Given the description of an element on the screen output the (x, y) to click on. 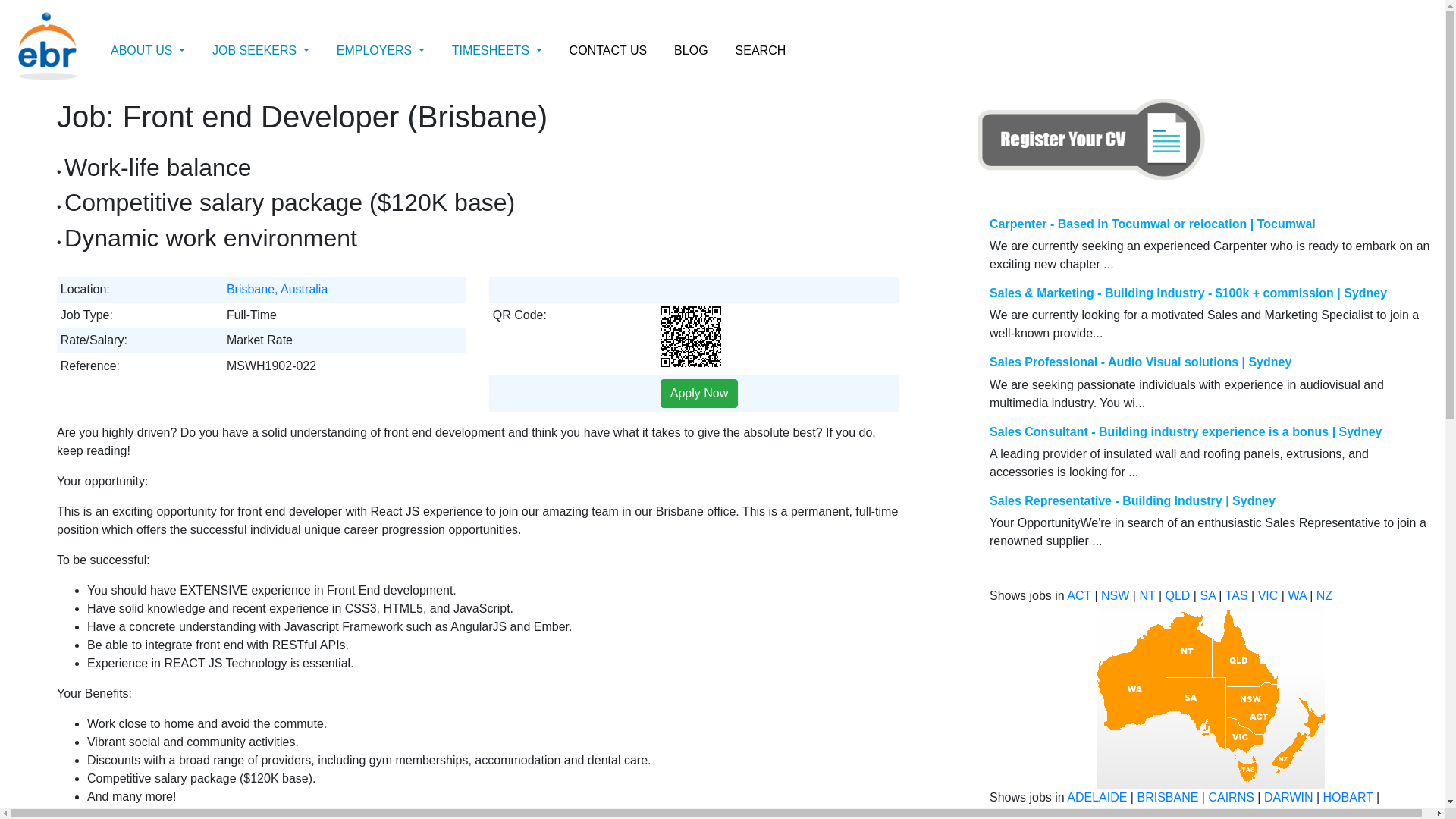
TIMESHEETS Element type: text (496, 50)
ABOUT US Element type: text (147, 50)
NZ Element type: text (1324, 595)
CAIRNS Element type: text (1230, 796)
ACT Element type: text (1078, 595)
NT Element type: text (1146, 595)
EBR Jobs Australia and New Zealand Element type: hover (1210, 696)
SA Element type: text (1206, 595)
TAS Element type: text (1236, 595)
Sales Professional - Audio Visual solutions | Sydney Element type: text (1140, 361)
HOBART Element type: text (1348, 796)
QLD Element type: text (1176, 595)
Apply Now Element type: text (698, 393)
BLOG Element type: text (690, 50)
Register Your CV Element type: hover (1091, 139)
Brisbane, Australia Element type: text (276, 288)
BRISBANE Element type: text (1167, 796)
Carpenter - Based in Tocumwal or relocation | Tocumwal Element type: text (1152, 223)
Sales Representative - Building Industry | Sydney Element type: text (1132, 500)
NSW Element type: text (1115, 595)
SEARCH Element type: text (760, 50)
VIC Element type: text (1268, 595)
JOB SEEKERS Element type: text (260, 50)
EMPLOYERS Element type: text (380, 50)
CONTACT US Element type: text (608, 50)
ADELAIDE Element type: text (1096, 796)
DARWIN Element type: text (1288, 796)
WA Element type: text (1296, 595)
